Given the description of an element on the screen output the (x, y) to click on. 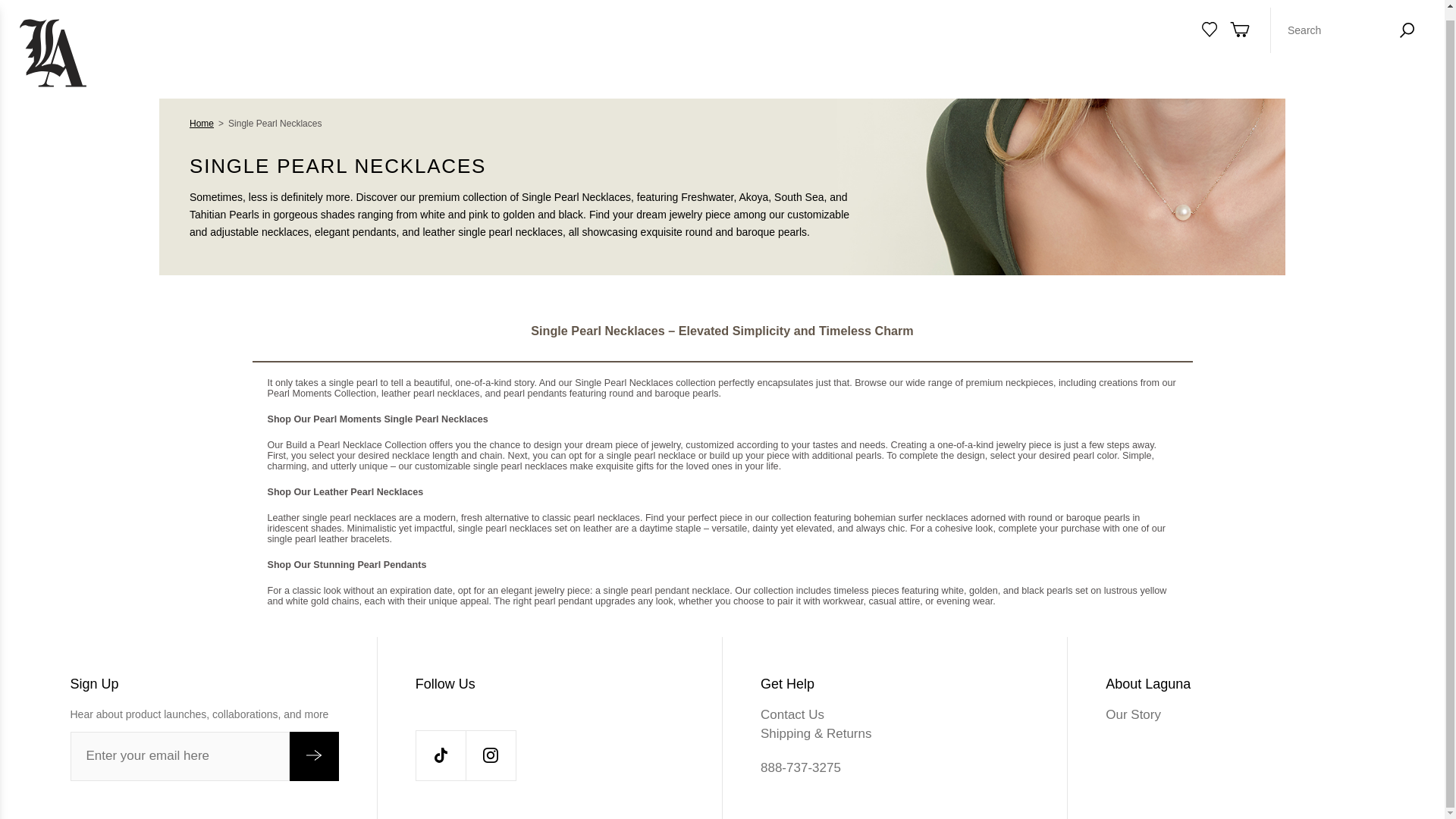
Our Story (1239, 714)
888-737-3275 (894, 767)
Home (201, 122)
Contact Us (894, 714)
